Given the description of an element on the screen output the (x, y) to click on. 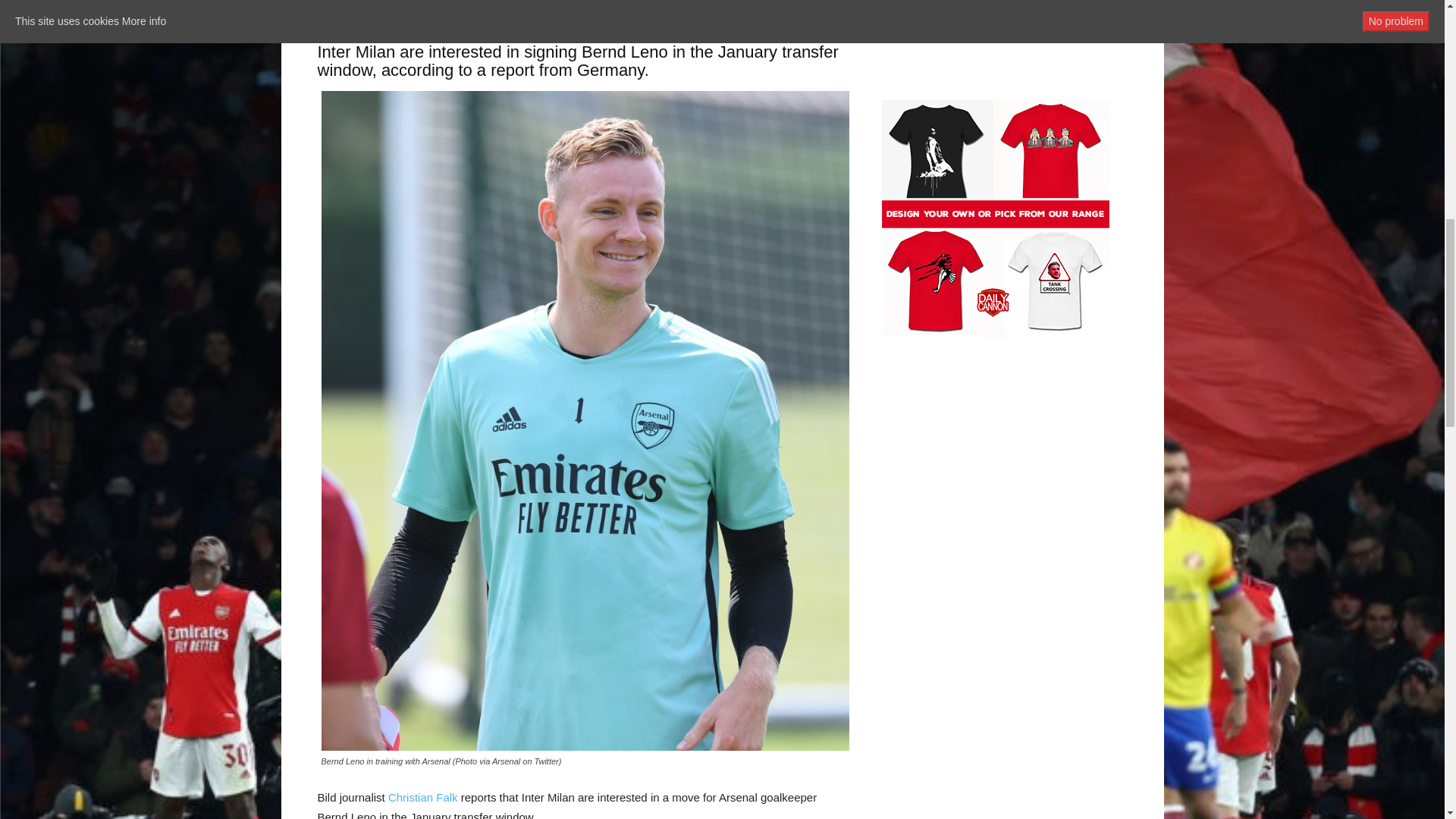
Linkedin (471, 7)
Copy URL (610, 7)
Email (540, 7)
ReddIt (506, 7)
WhatsApp (436, 7)
Facebook (332, 7)
Pinterest (401, 7)
Twitter (366, 7)
Telegram (575, 7)
